Given the description of an element on the screen output the (x, y) to click on. 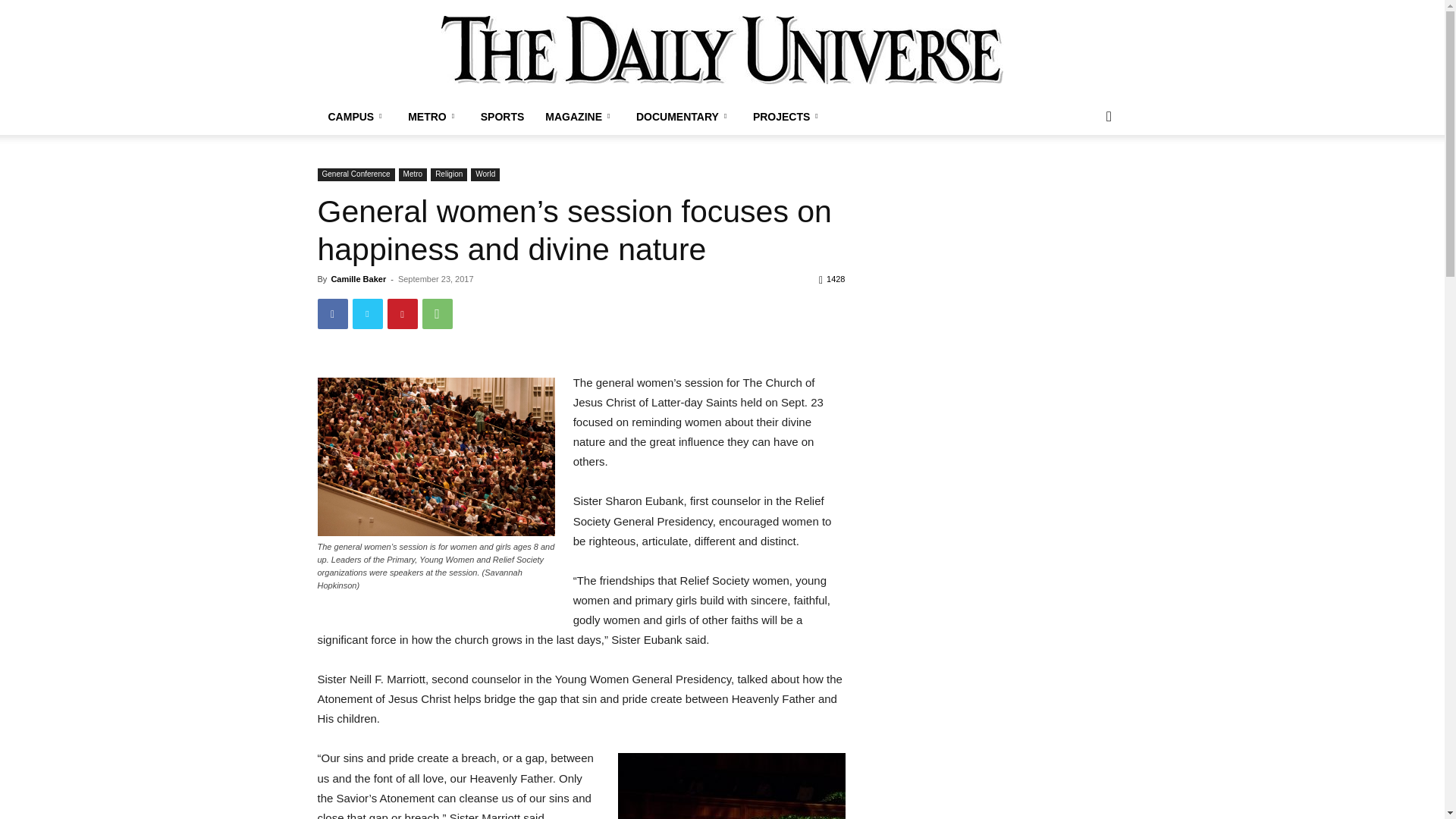
WhatsApp (436, 313)
Pinterest (401, 313)
Twitter (366, 313)
Facebook (332, 313)
